Given the description of an element on the screen output the (x, y) to click on. 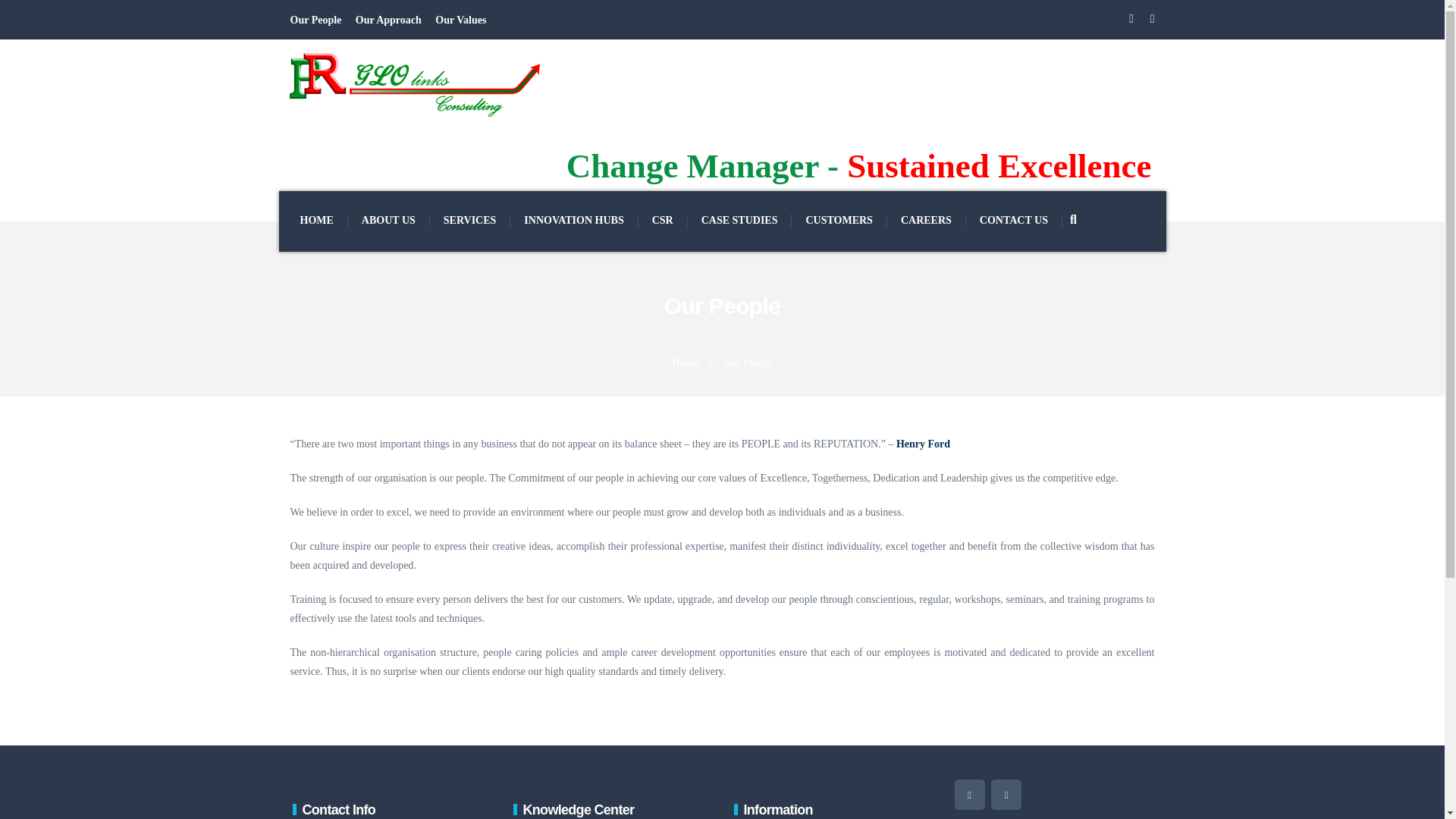
INNOVATION HUBS (574, 220)
CAREERS (926, 220)
HOME (316, 220)
CASE STUDIES (739, 220)
Follow Us on Linkedin (1006, 794)
SERVICES (470, 220)
Our Values (460, 19)
CUSTOMERS (839, 220)
CONTACT US (1014, 220)
Our Approach (388, 19)
Follow Us on Facebook (968, 794)
CSR (663, 220)
Our People (314, 19)
ABOUT US (388, 220)
